Given the description of an element on the screen output the (x, y) to click on. 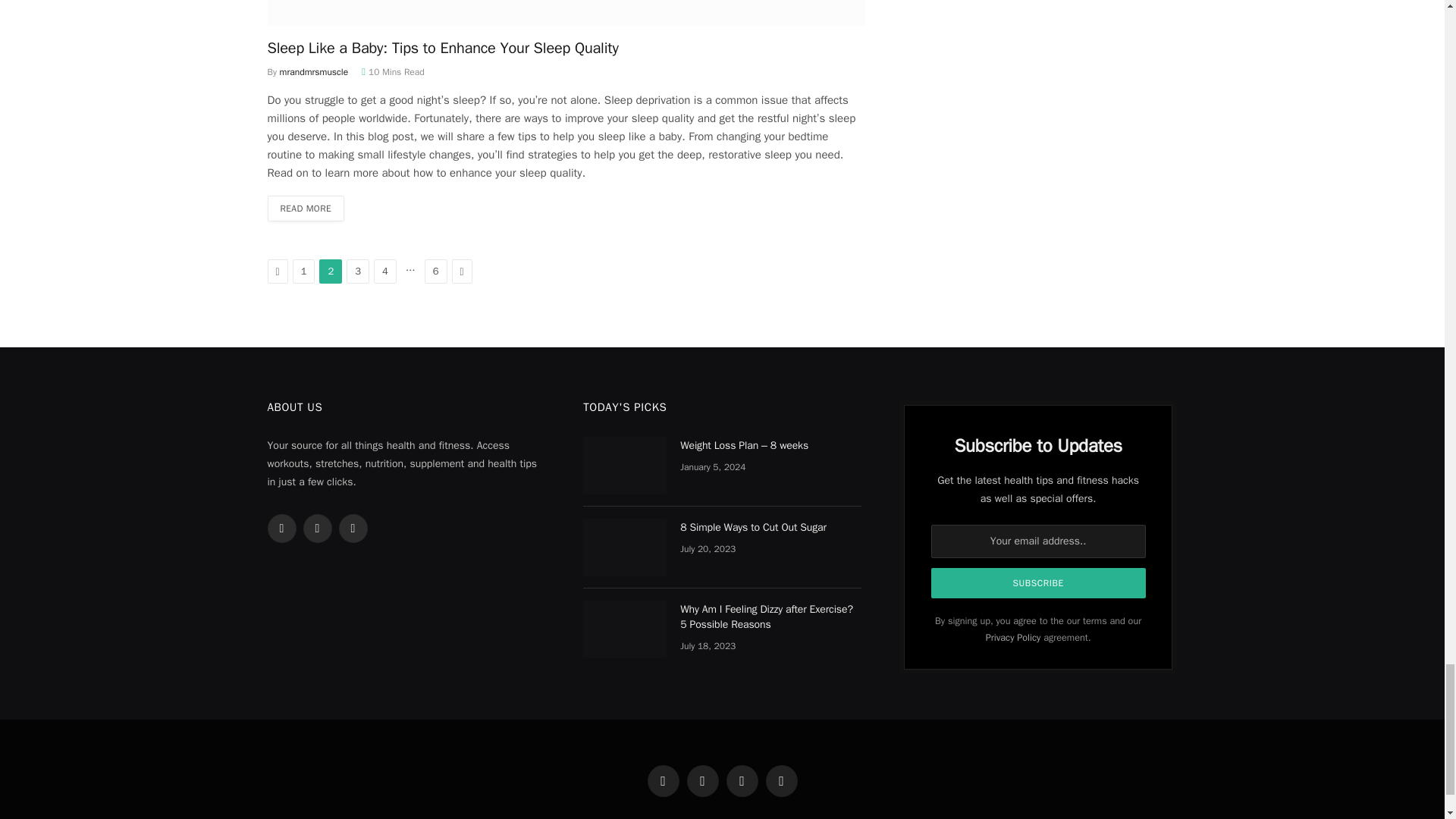
Subscribe (1038, 583)
